Given the description of an element on the screen output the (x, y) to click on. 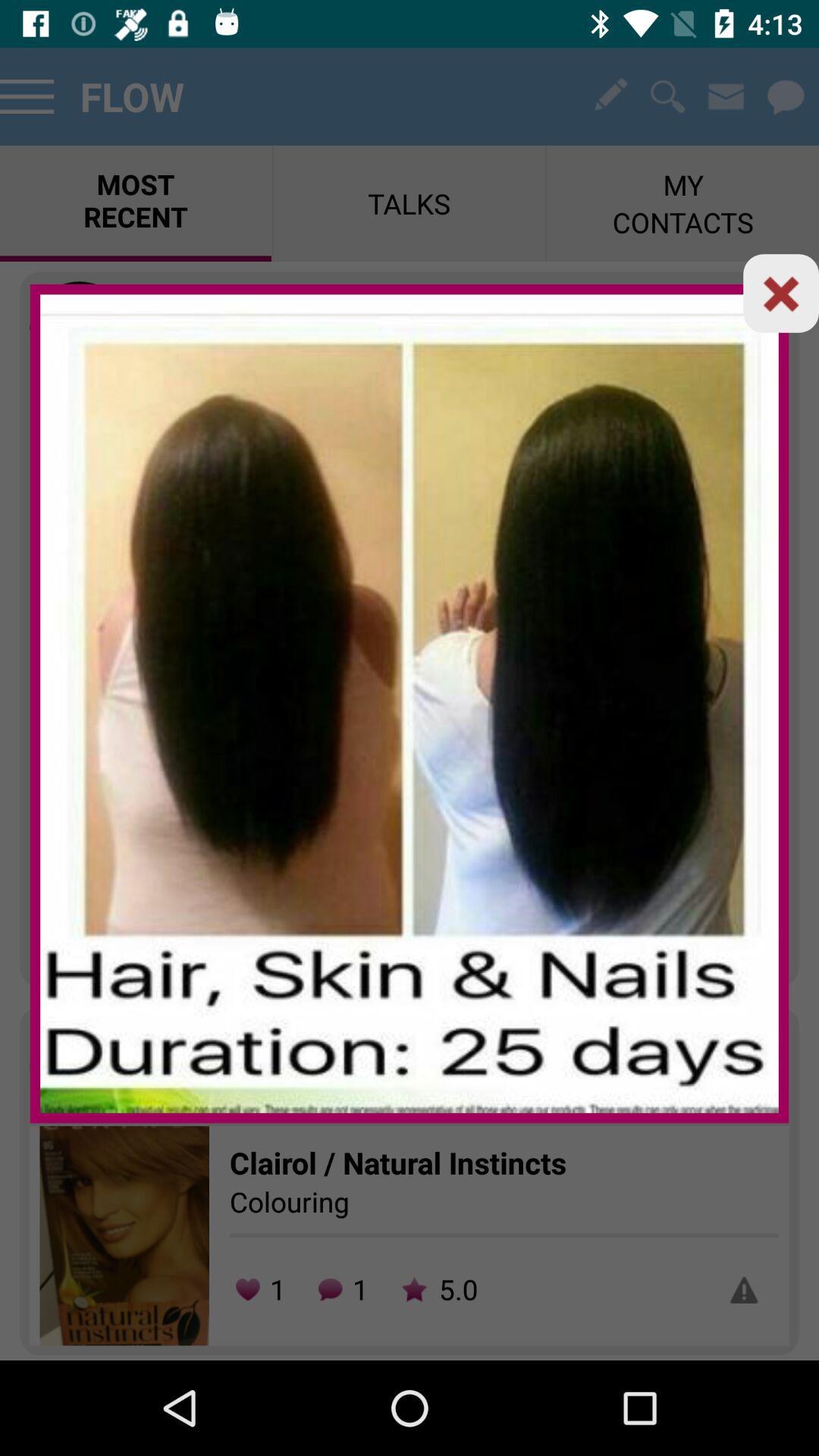
close window (781, 293)
